Given the description of an element on the screen output the (x, y) to click on. 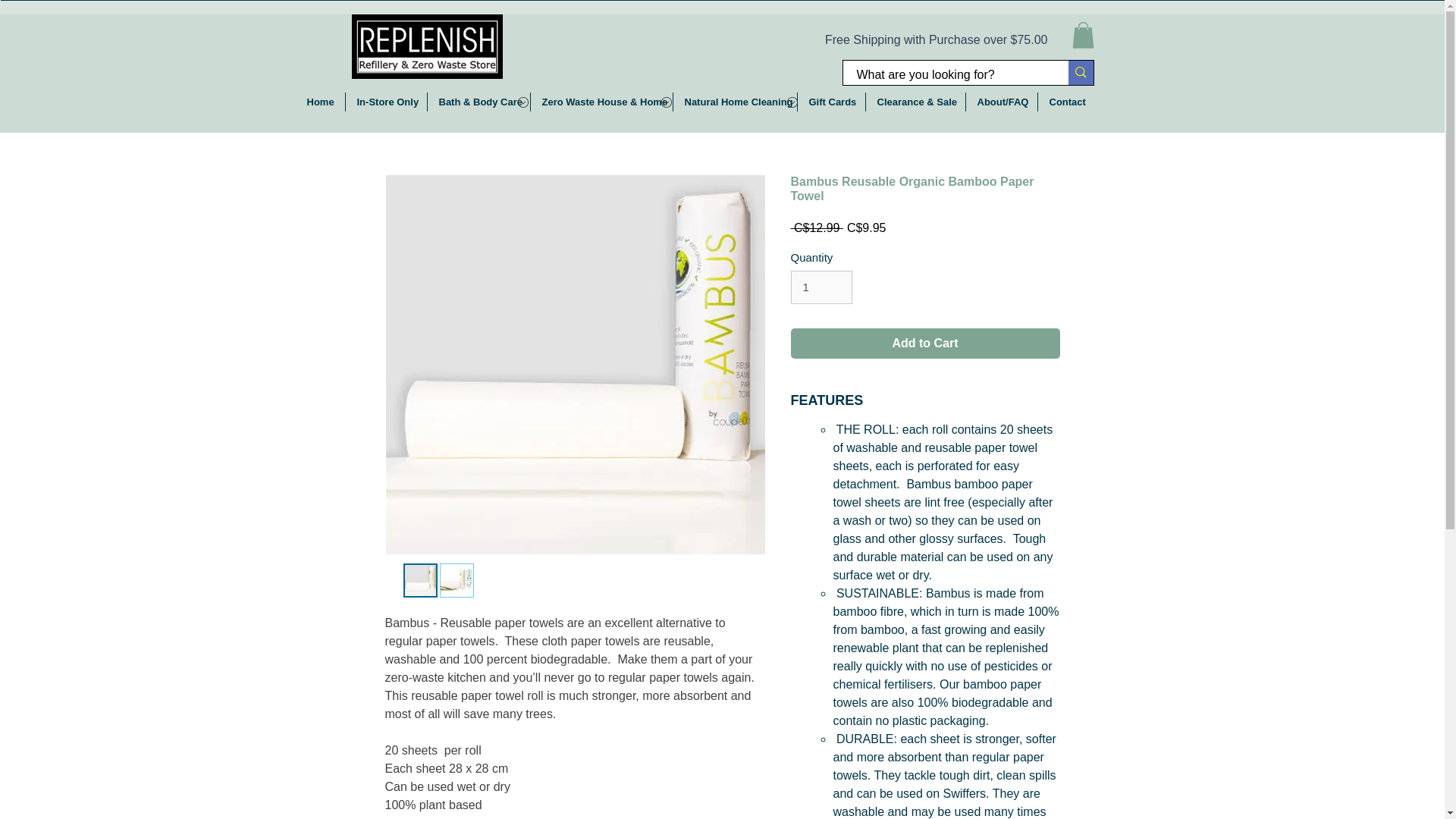
Add to Cart (924, 343)
Gift Cards (830, 101)
Natural Home Cleaning (734, 101)
1 (820, 287)
Home (320, 101)
Contact (1065, 101)
In-Store Only (386, 101)
